Given the description of an element on the screen output the (x, y) to click on. 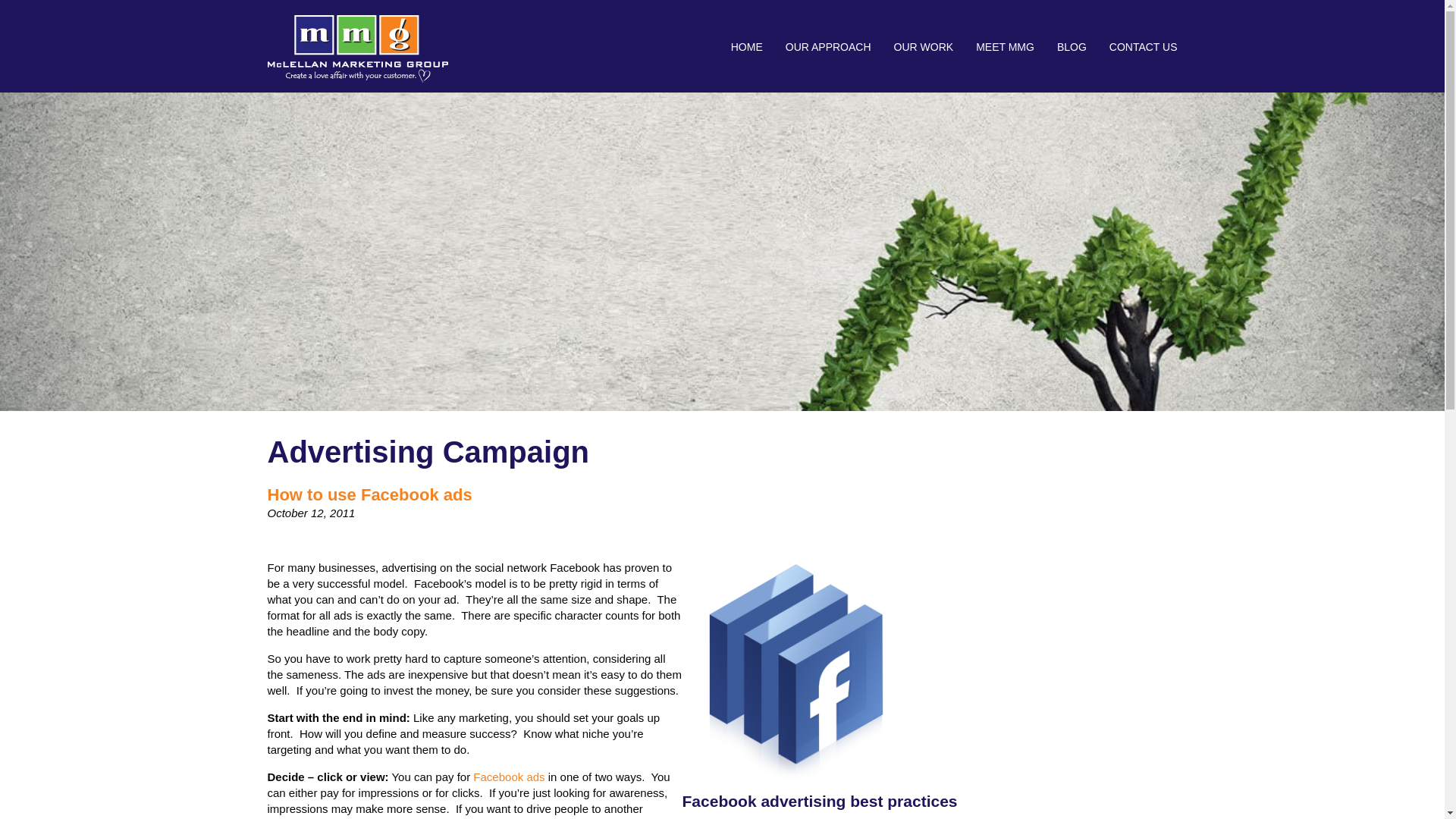
How to use Facebook ads (368, 494)
FBlogo (796, 781)
MEET MMG (1004, 46)
HOME (746, 46)
CONTACT US (1137, 46)
OUR APPROACH (828, 46)
OUR WORK (923, 46)
Facebook (508, 776)
How to use Facebook ads (368, 494)
Facebook ads (508, 776)
